Given the description of an element on the screen output the (x, y) to click on. 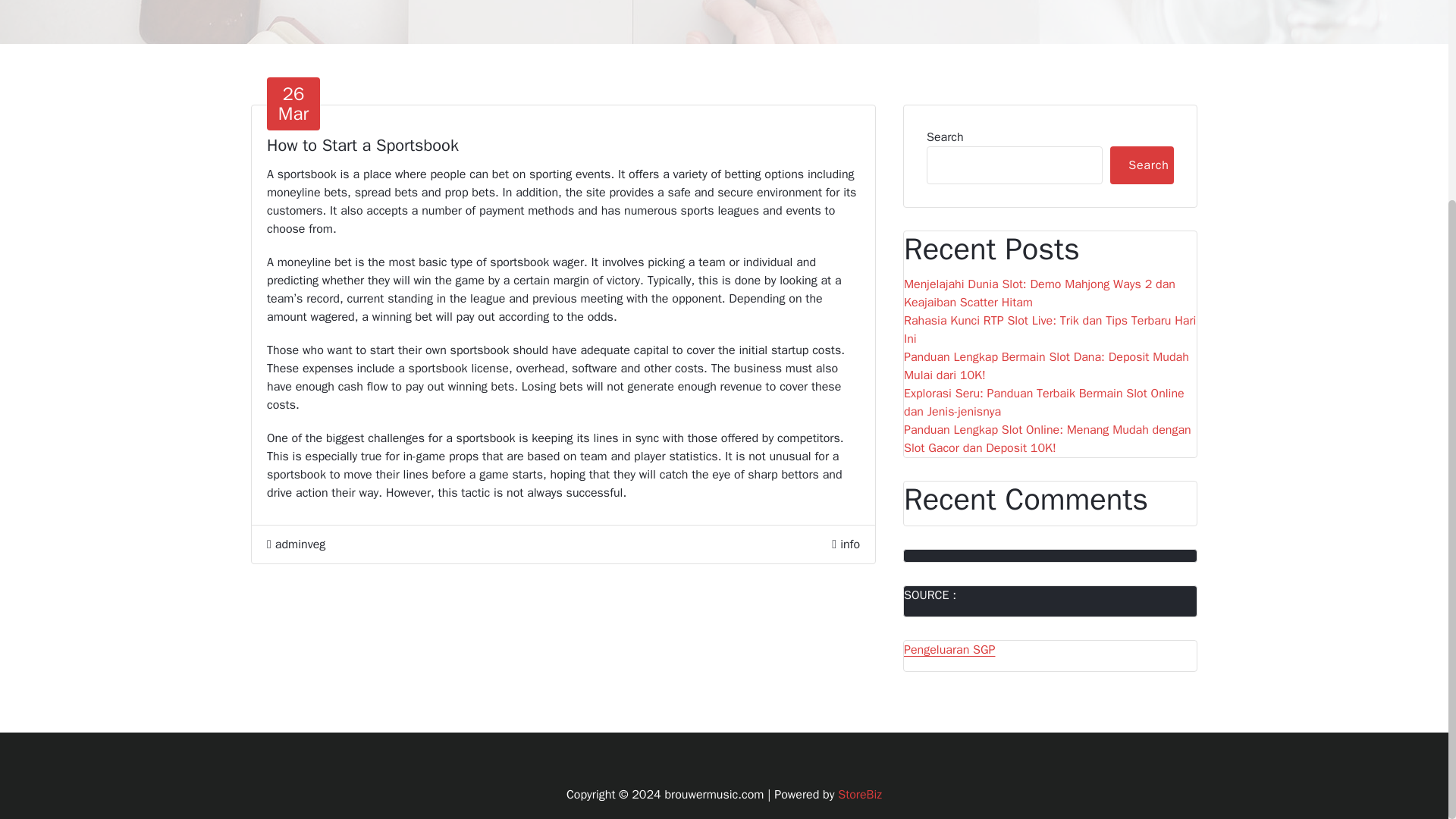
Pengeluaran SGP (949, 649)
Search (293, 103)
StoreBiz (1141, 165)
info (860, 794)
Rahasia Kunci RTP Slot Live: Trik dan Tips Terbaru Hari Ini (850, 544)
adminveg (1050, 330)
